Given the description of an element on the screen output the (x, y) to click on. 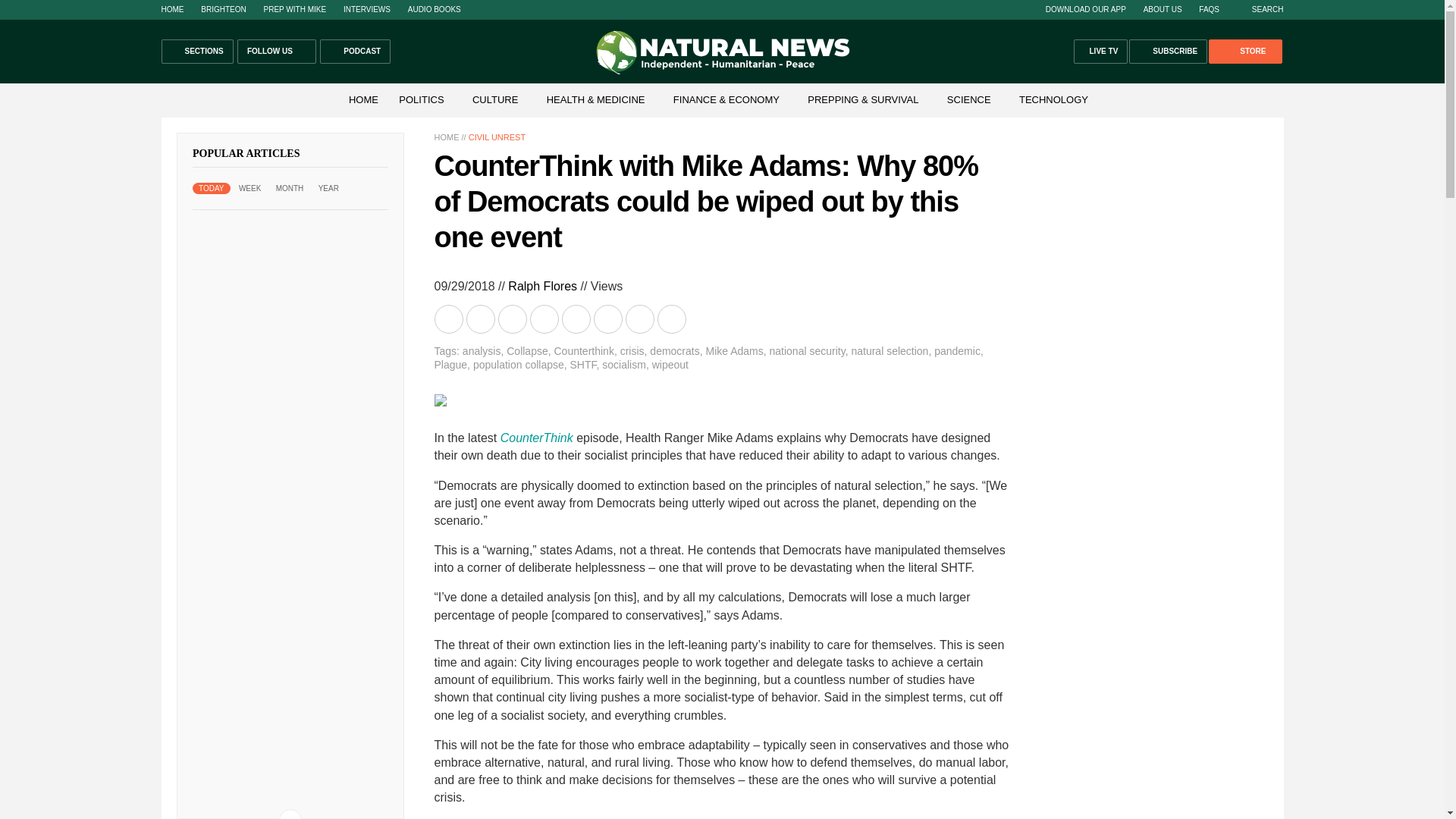
FAQS (1209, 8)
LIVE TV (1101, 51)
HOME (363, 99)
Search (1260, 8)
Scroll Down (290, 814)
ABOUT US (1162, 8)
SEARCH (1260, 8)
AUDIO BOOKS (434, 8)
Share on Twitter (513, 318)
Share on Truth.Social (608, 318)
